Given the description of an element on the screen output the (x, y) to click on. 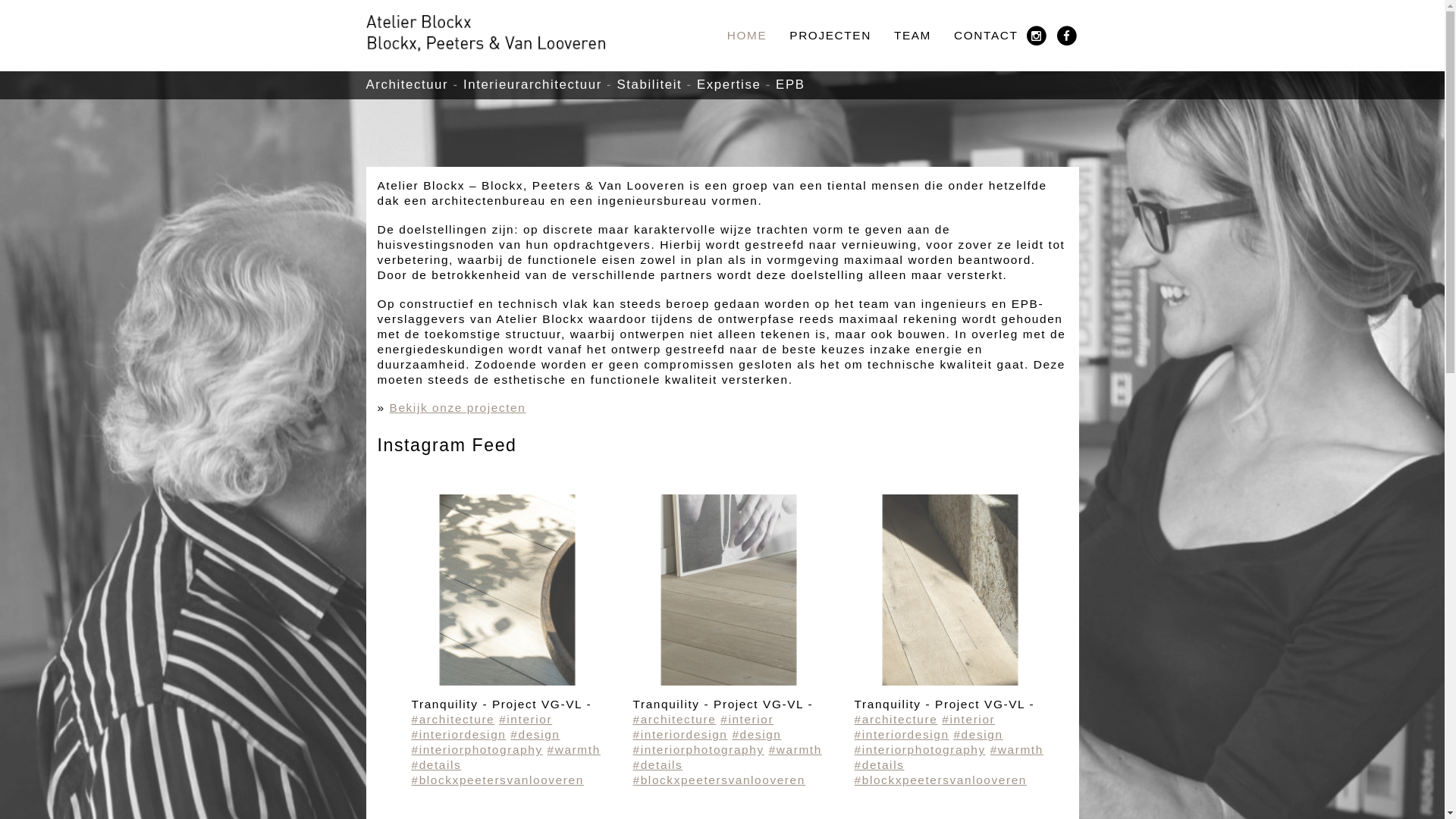
#interiorphotography Element type: text (919, 749)
TEAM Element type: text (912, 35)
#blockxpeetersvanlooveren Element type: text (719, 779)
CONTACT Element type: text (985, 35)
#interiordesign Element type: text (901, 734)
Stabiliteit Element type: text (649, 85)
#details Element type: text (879, 764)
PROJECTEN Element type: text (830, 35)
#warmth Element type: text (1016, 749)
#architecture Element type: text (452, 718)
#architecture Element type: text (896, 718)
#design Element type: text (977, 734)
Volg ons op Facebook Element type: hover (1066, 36)
#details Element type: text (436, 764)
Volg ons op Instagram Element type: hover (1036, 36)
#design Element type: text (756, 734)
Expertise Element type: text (728, 85)
#warmth Element type: text (573, 749)
#blockxpeetersvanlooveren Element type: text (497, 779)
#interiordesign Element type: text (680, 734)
#interior Element type: text (525, 718)
#design Element type: text (534, 734)
EPB Element type: text (789, 85)
#warmth Element type: text (795, 749)
#interiorphotography Element type: text (476, 749)
#details Element type: text (658, 764)
Architectuur Element type: text (406, 85)
Interieurarchitectuur Element type: text (532, 85)
#interiordesign Element type: text (458, 734)
HOME Element type: text (747, 35)
Bekijk onze projecten Element type: text (457, 407)
Home - Atelier Blockx Element type: hover (484, 33)
#interior Element type: text (746, 718)
#architecture Element type: text (674, 718)
#interiorphotography Element type: text (698, 749)
#interior Element type: text (967, 718)
#blockxpeetersvanlooveren Element type: text (940, 779)
